Given the description of an element on the screen output the (x, y) to click on. 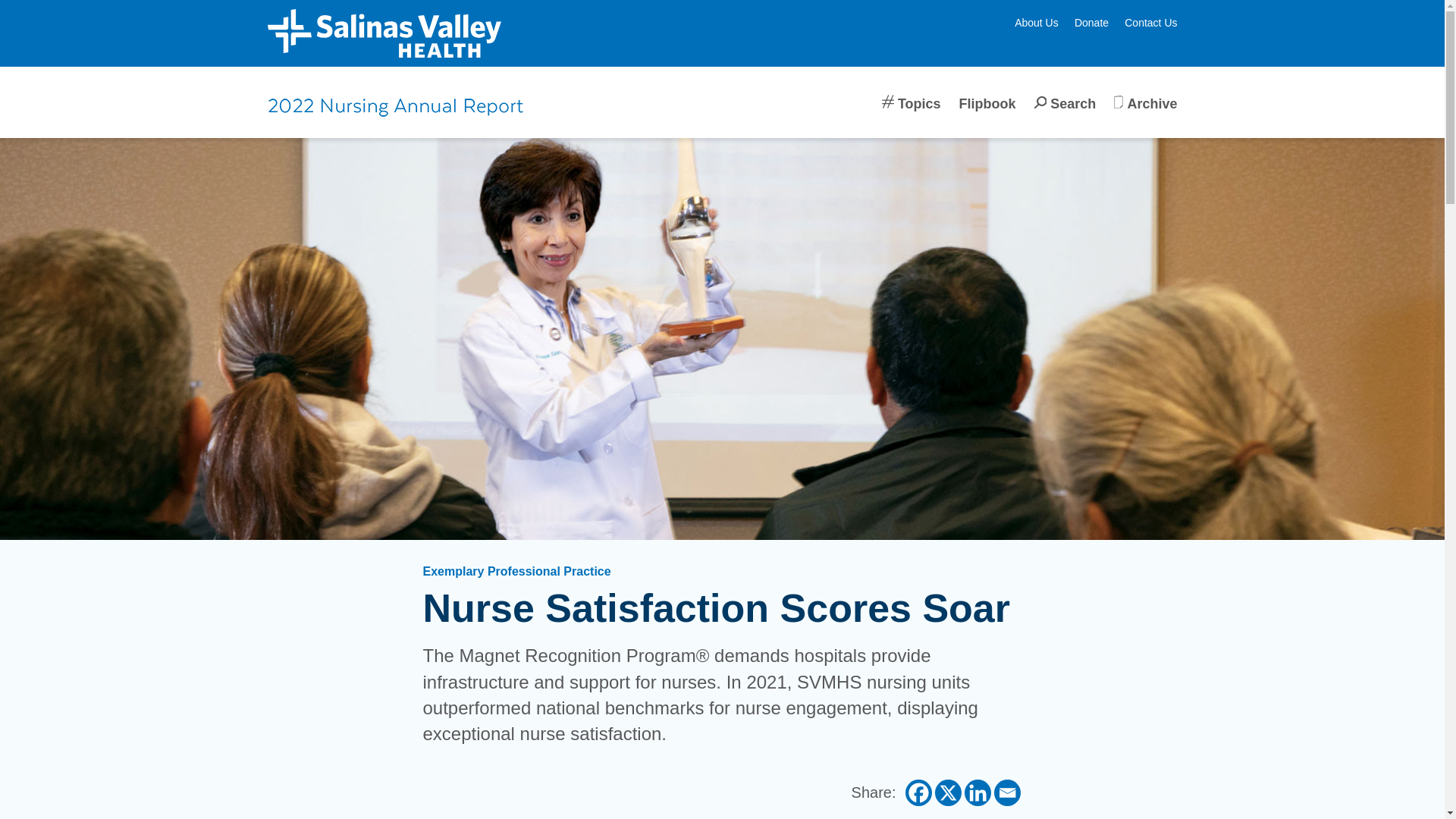
X (947, 792)
Email (1006, 792)
Search (1064, 116)
Donate (1091, 22)
Topics (911, 116)
About Us (1036, 22)
View all articles in series Exemplary Professional Practice (517, 571)
Exemplary Professional Practice (517, 571)
Contact Us (1150, 22)
Linkedin (977, 792)
